Given the description of an element on the screen output the (x, y) to click on. 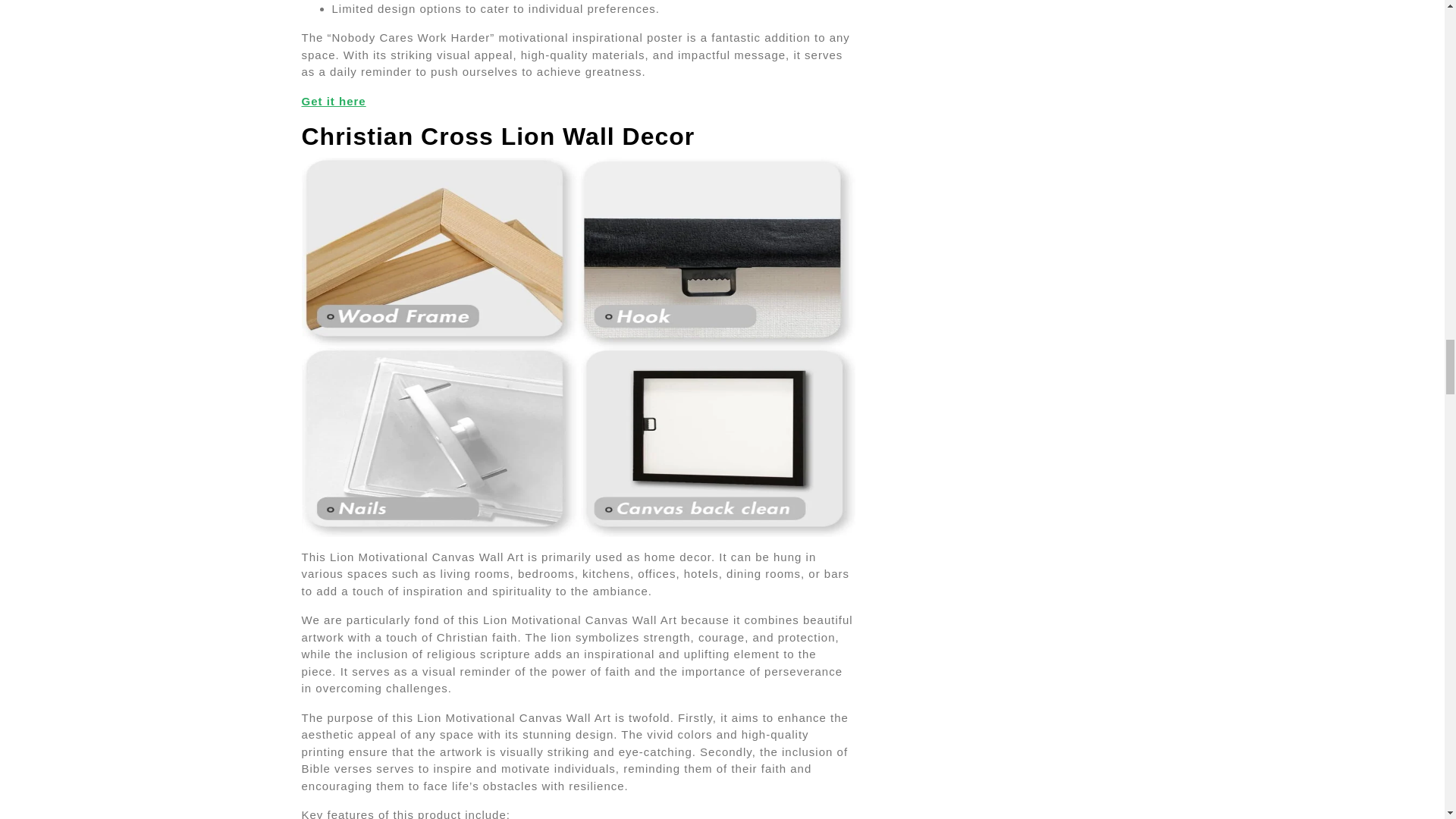
Get it here (333, 101)
